Given the description of an element on the screen output the (x, y) to click on. 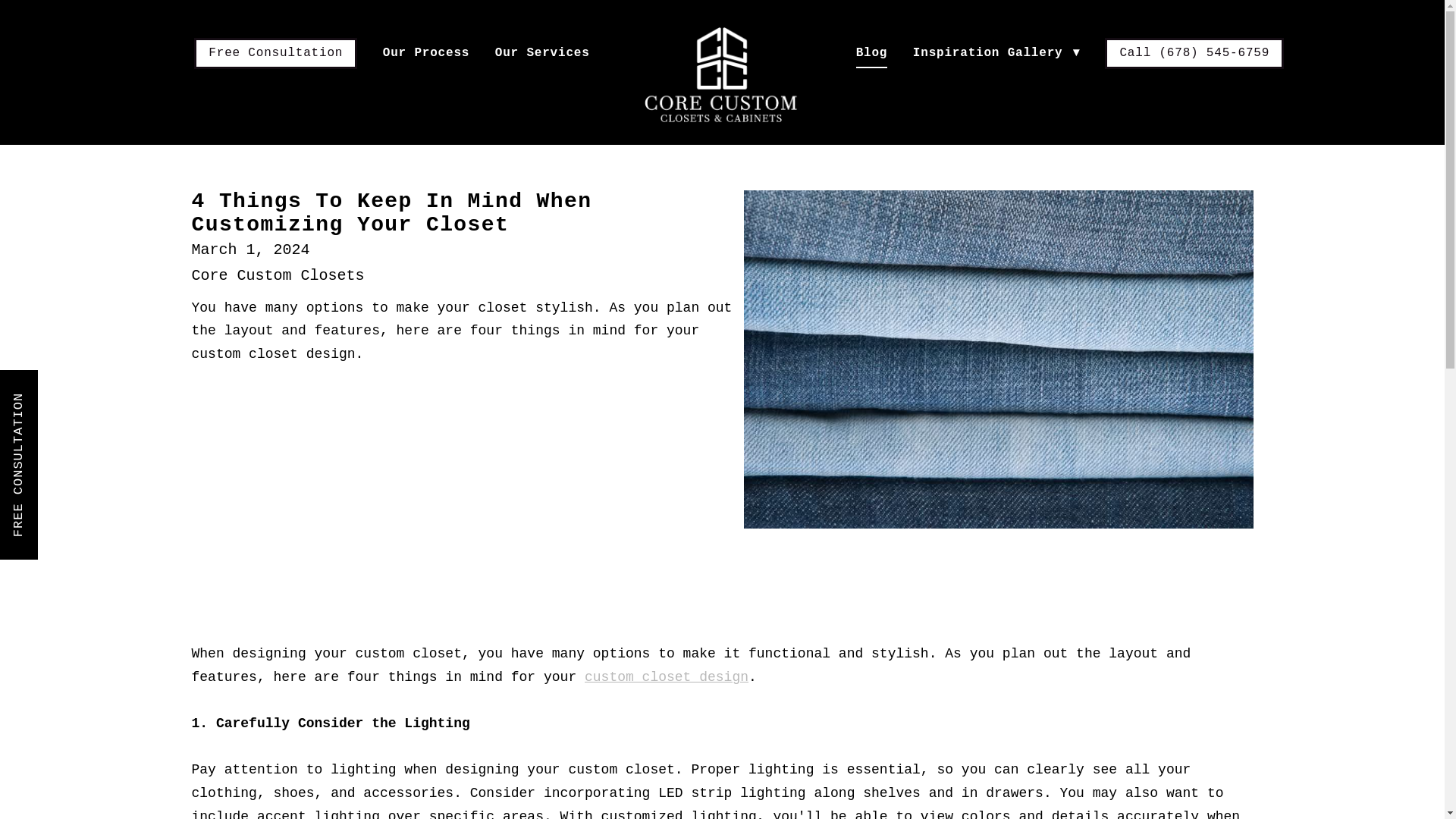
Blog (872, 53)
Free Consultation (274, 52)
FREE CONSULTATION (96, 387)
custom closet design (666, 676)
Core Custom Closets and Cabinets LLC (722, 74)
Our Services (542, 53)
Our Process (425, 53)
